Given the description of an element on the screen output the (x, y) to click on. 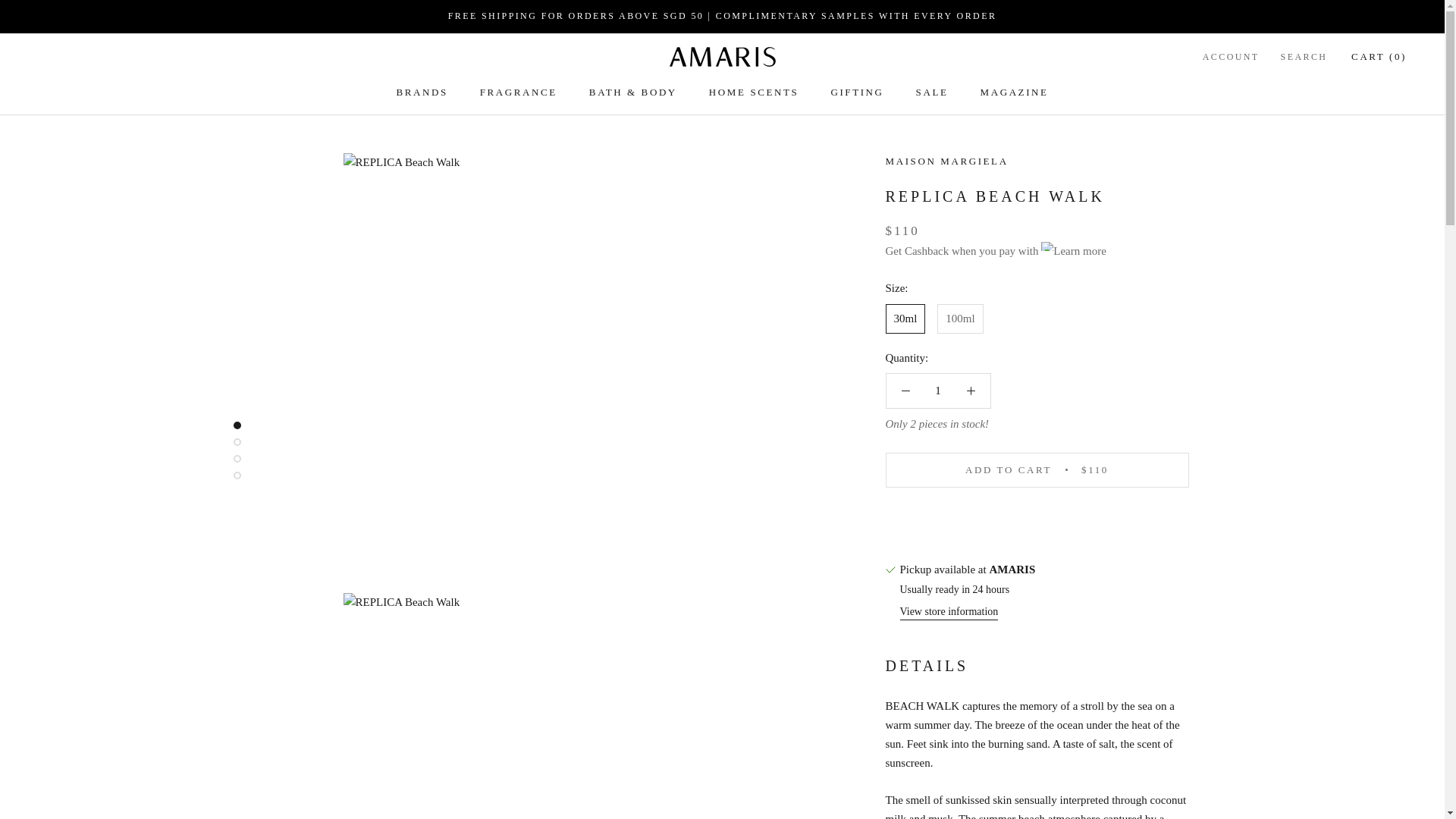
1 (938, 390)
